Given the description of an element on the screen output the (x, y) to click on. 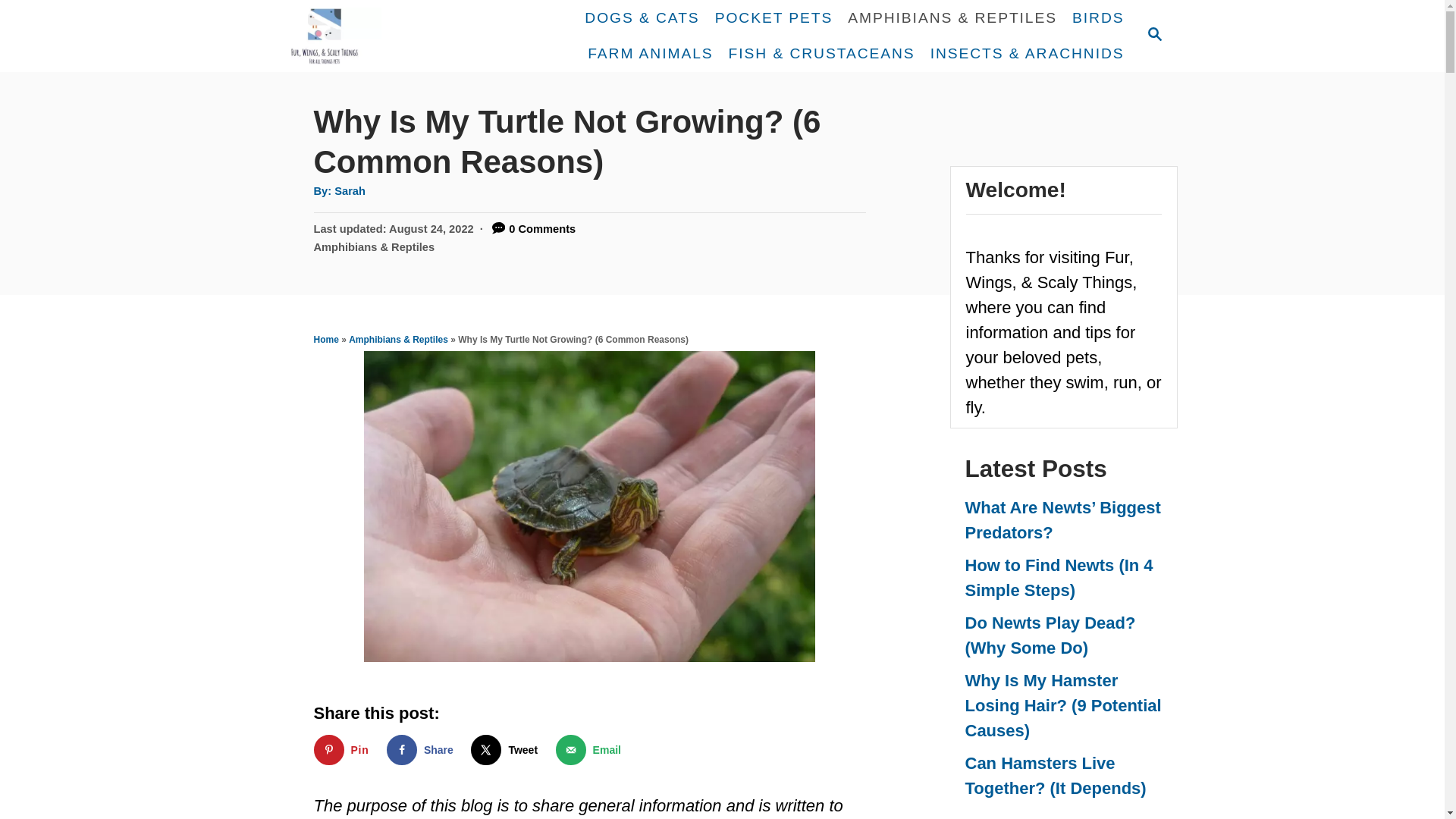
Send over email (591, 749)
Home (326, 339)
Email (591, 749)
Tweet (507, 749)
BIRDS (1097, 18)
Share on X (507, 749)
Sarah (349, 191)
SEARCH (1153, 35)
POCKET PETS (774, 18)
FARM ANIMALS (649, 53)
Save to Pinterest (344, 749)
Share (423, 749)
Share on Facebook (423, 749)
Pin (344, 749)
